Given the description of an element on the screen output the (x, y) to click on. 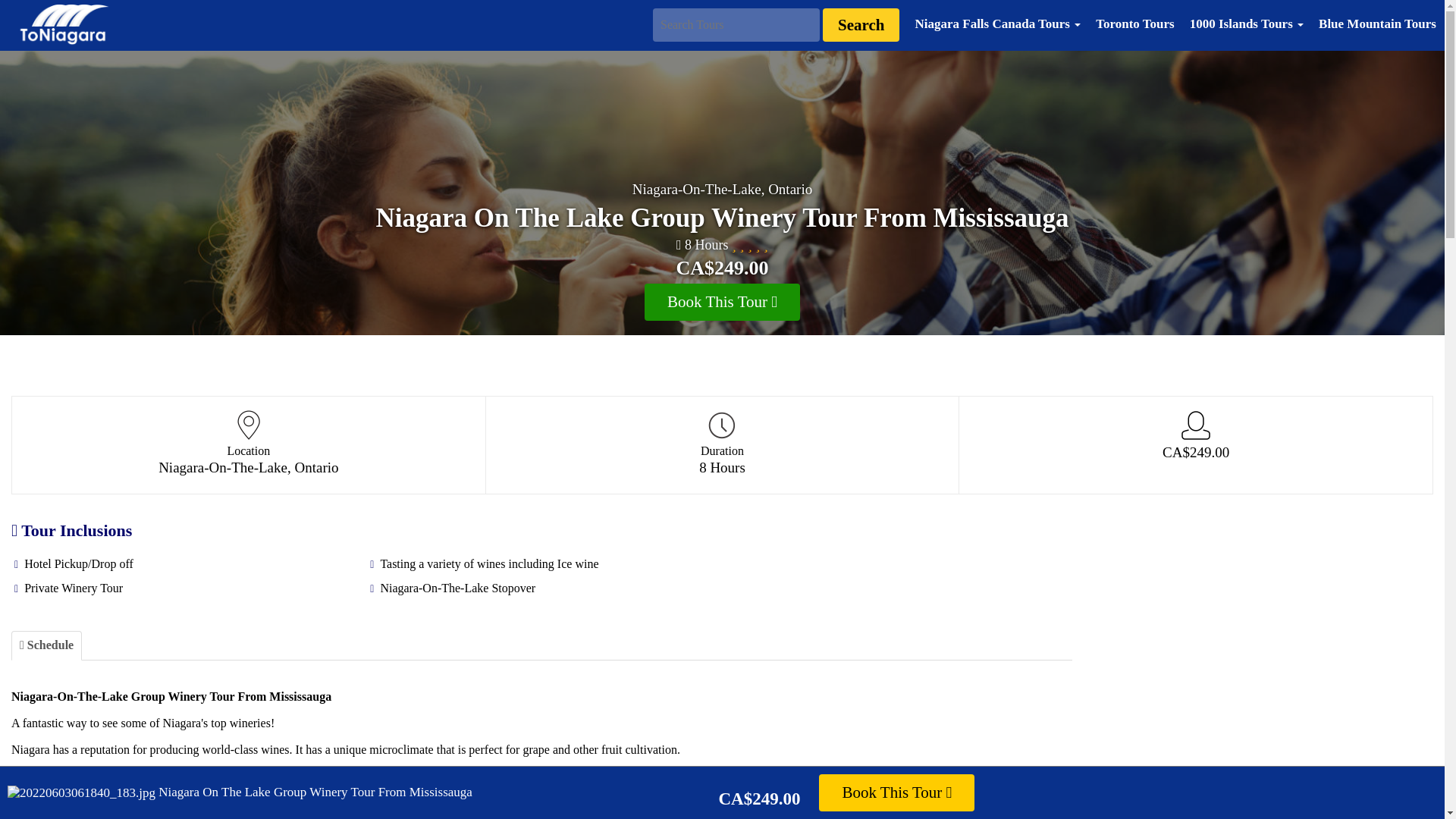
Search (860, 24)
Schedule (46, 645)
Book This Tour (896, 792)
1000 Islands Tours (1246, 24)
Blue Mountain Tours (1377, 24)
Niagara Falls Canada Tours (997, 24)
Book This Tour (722, 302)
Toronto Tours (1133, 24)
